Given the description of an element on the screen output the (x, y) to click on. 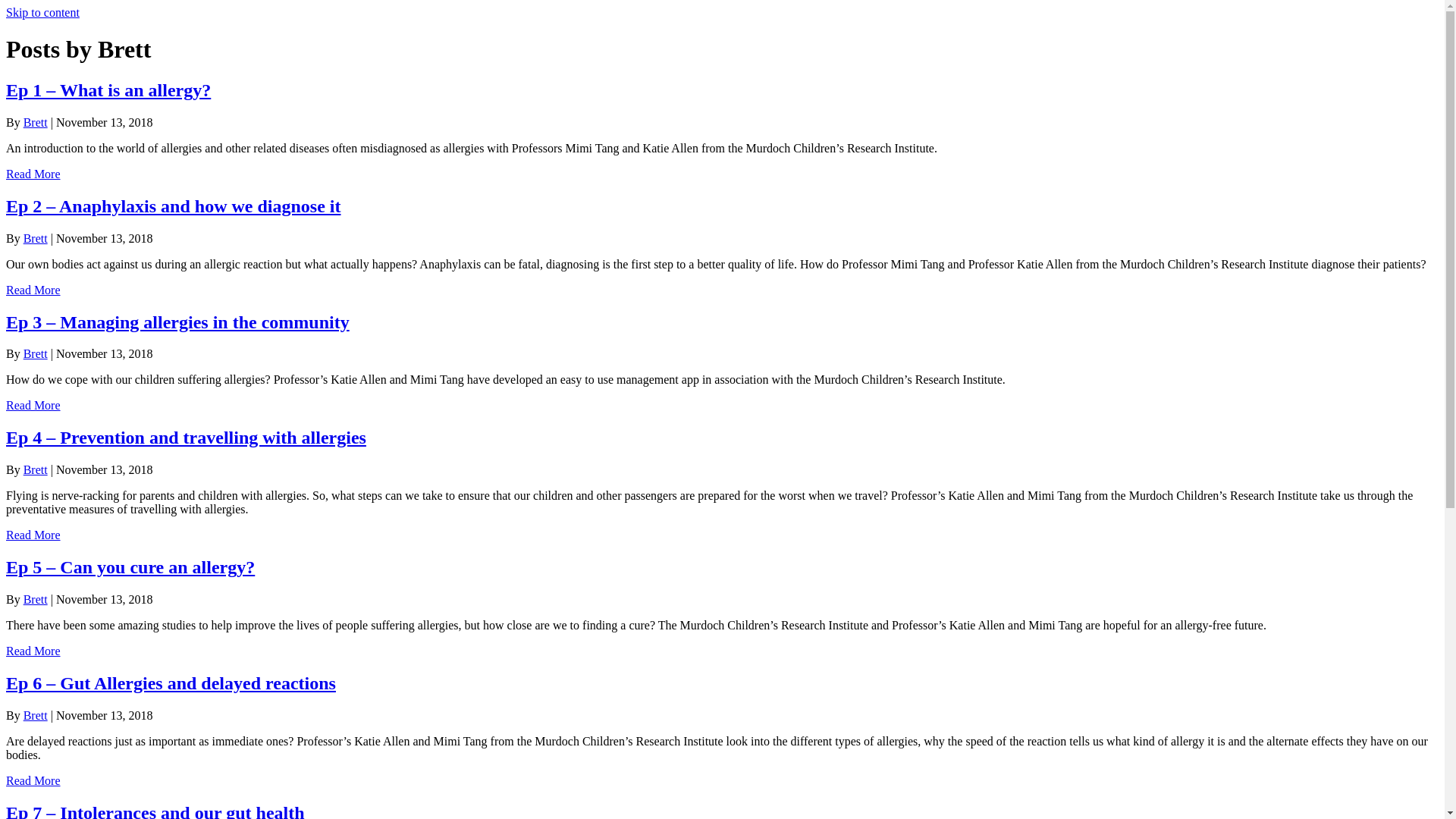
Read More Element type: text (33, 534)
Read More Element type: text (33, 404)
Brett Element type: text (35, 238)
Brett Element type: text (35, 469)
Brett Element type: text (35, 122)
Read More Element type: text (33, 173)
Read More Element type: text (33, 289)
Brett Element type: text (35, 715)
Brett Element type: text (35, 599)
Skip to content Element type: text (42, 12)
Brett Element type: text (35, 353)
Read More Element type: text (33, 780)
Read More Element type: text (33, 650)
